Given the description of an element on the screen output the (x, y) to click on. 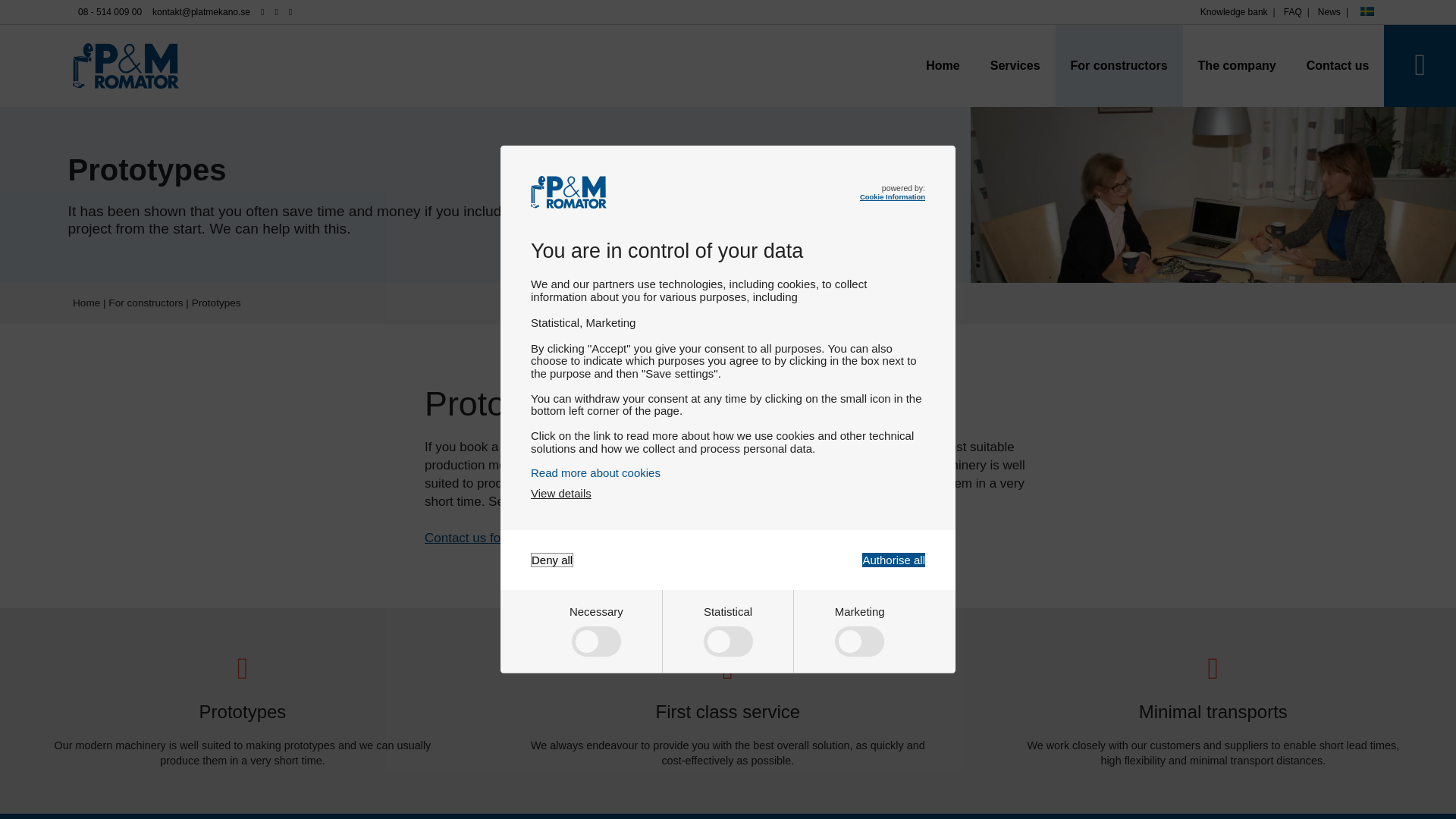
Deny all (552, 559)
Cookie Information (892, 196)
Read more about cookies (727, 472)
Authorise all (892, 559)
View details (561, 492)
